Given the description of an element on the screen output the (x, y) to click on. 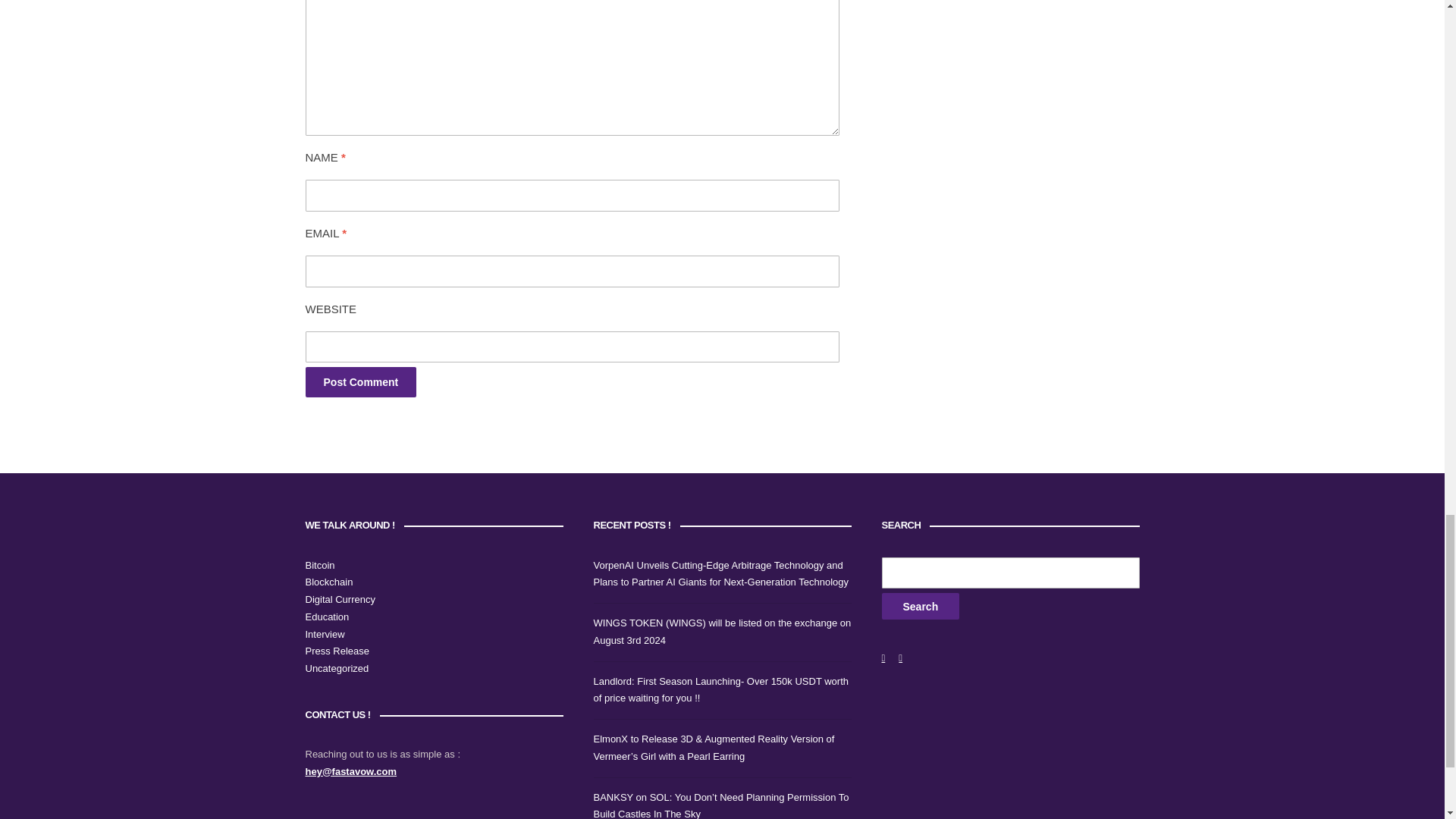
Post Comment (360, 381)
Search (919, 605)
Bitcoin (319, 564)
Post Comment (360, 381)
